Given the description of an element on the screen output the (x, y) to click on. 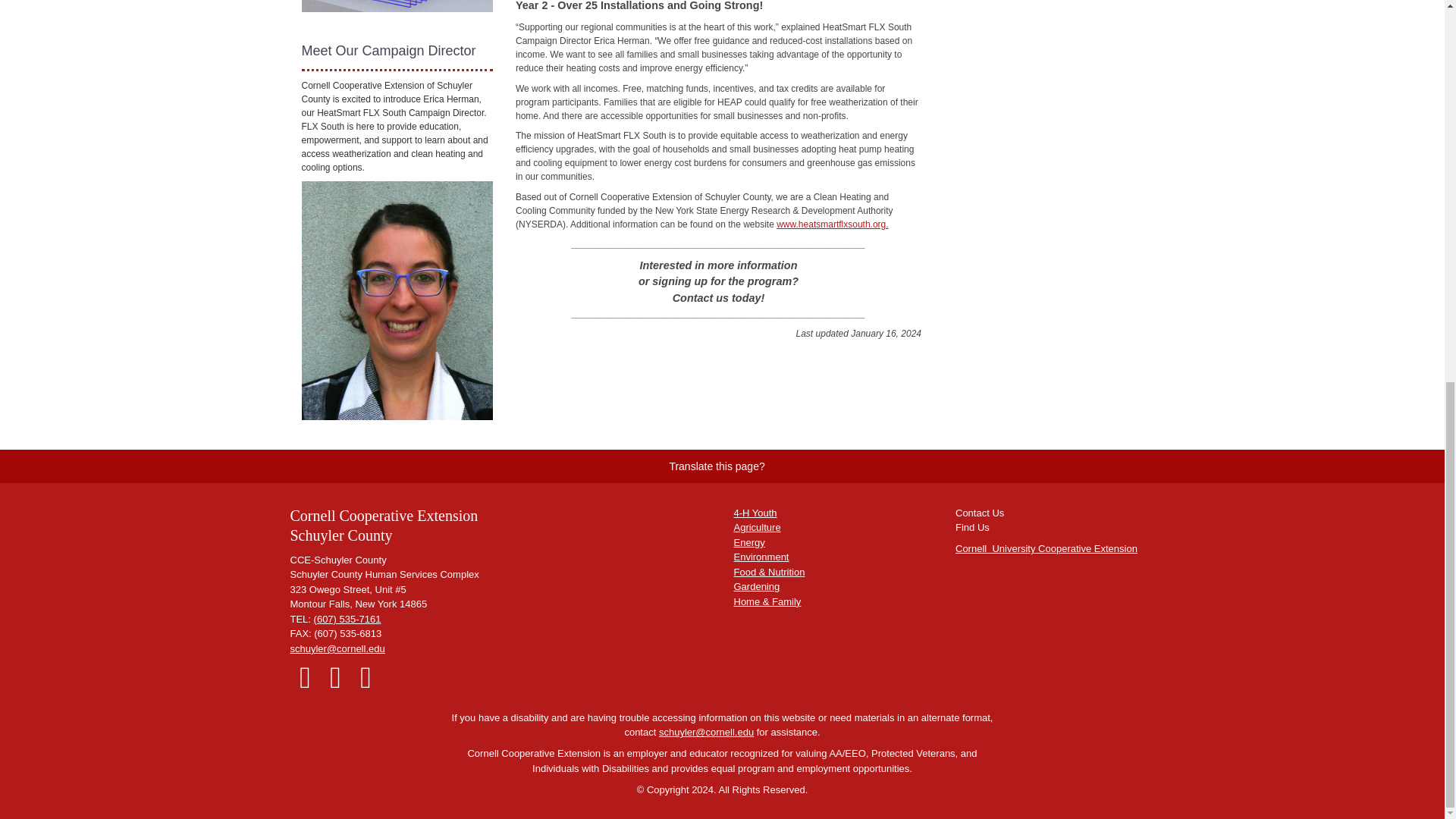
www.heatsmartflxsouth.org. (832, 224)
